Given the description of an element on the screen output the (x, y) to click on. 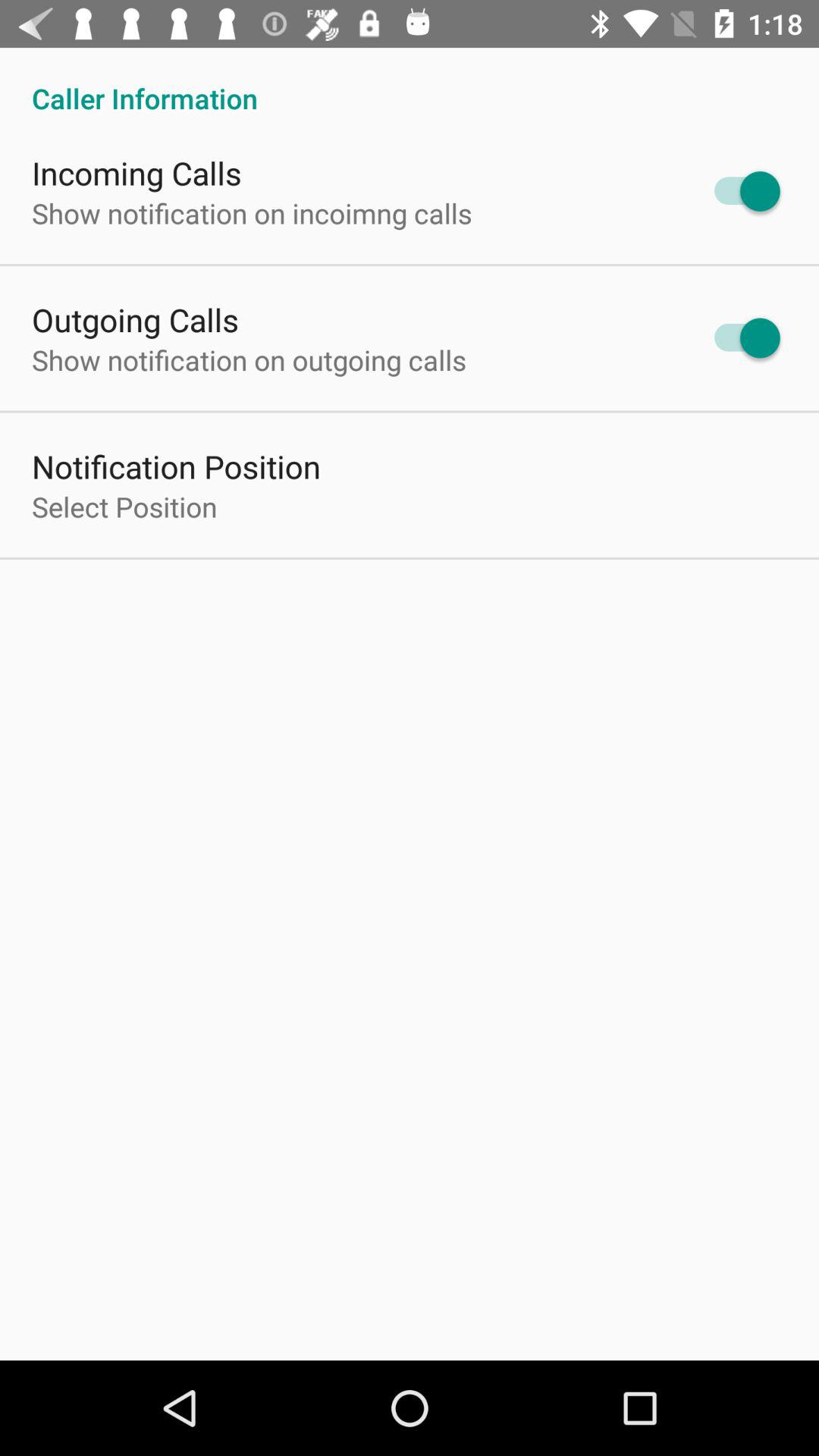
swipe to the incoming calls item (136, 172)
